Given the description of an element on the screen output the (x, y) to click on. 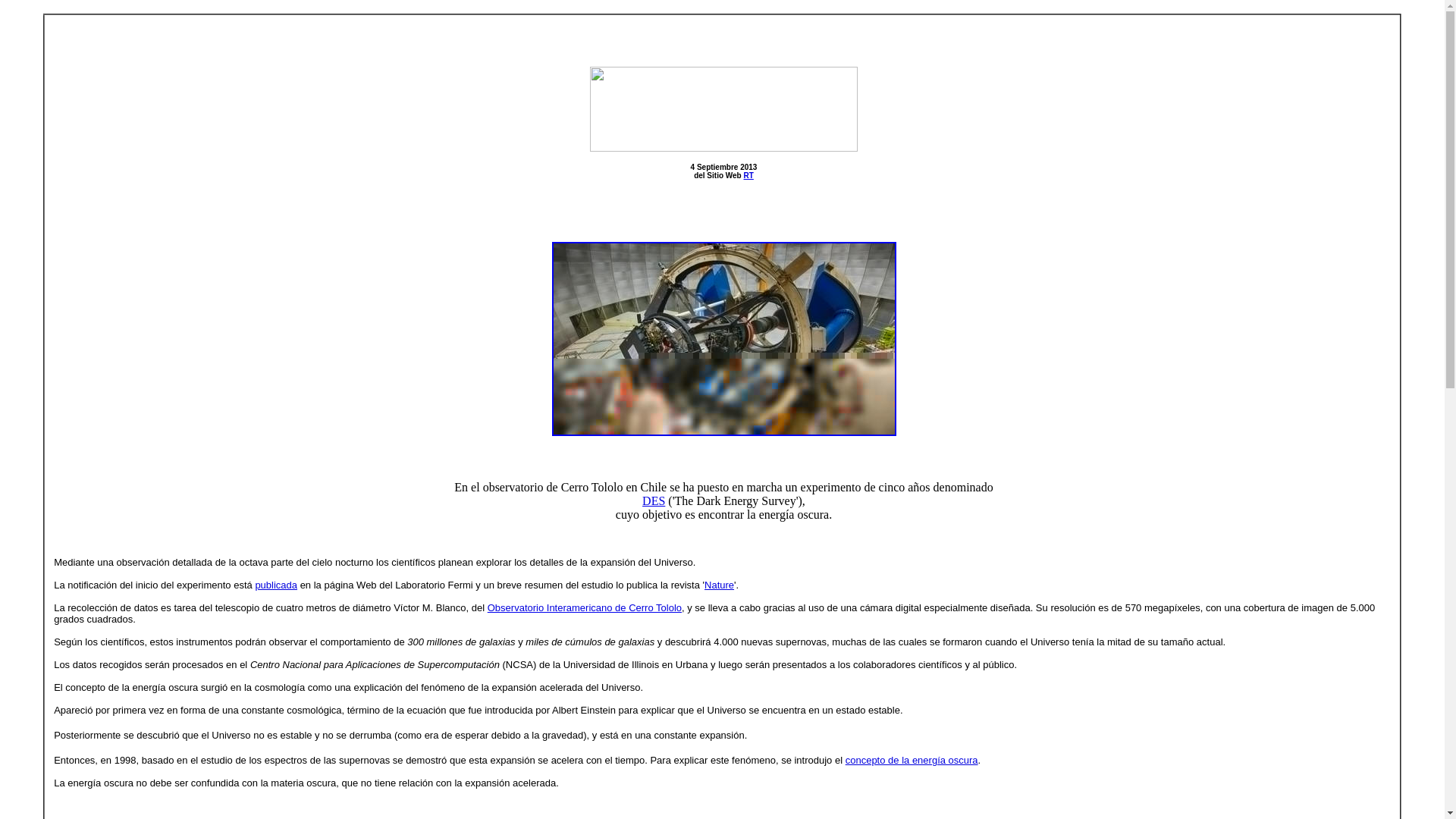
publicada (275, 584)
Observatorio Interamericano de Cerro Tololo (584, 607)
RT (749, 175)
Nature (718, 584)
DES (653, 500)
